Given the description of an element on the screen output the (x, y) to click on. 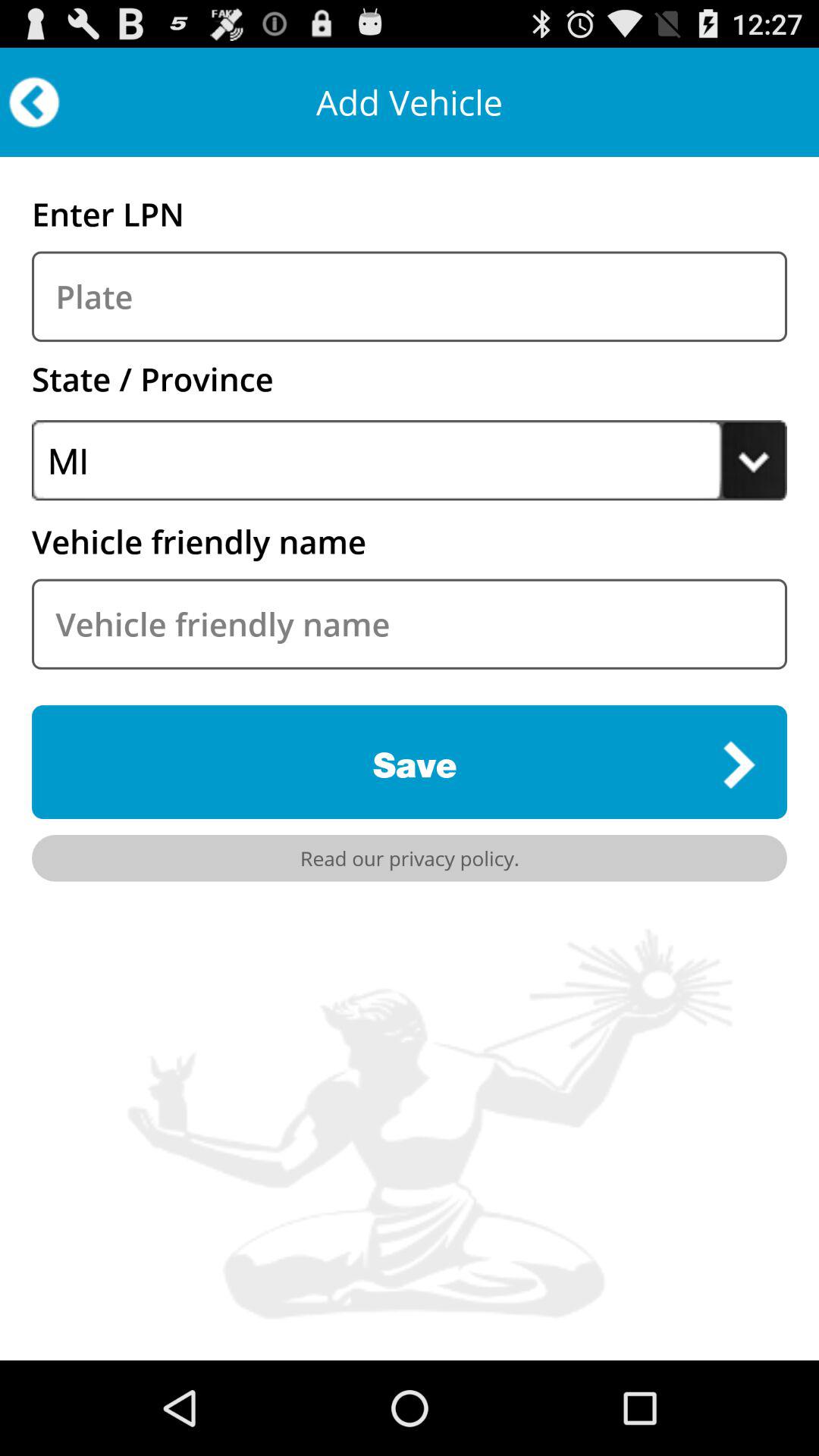
vehicle booking (409, 296)
